Given the description of an element on the screen output the (x, y) to click on. 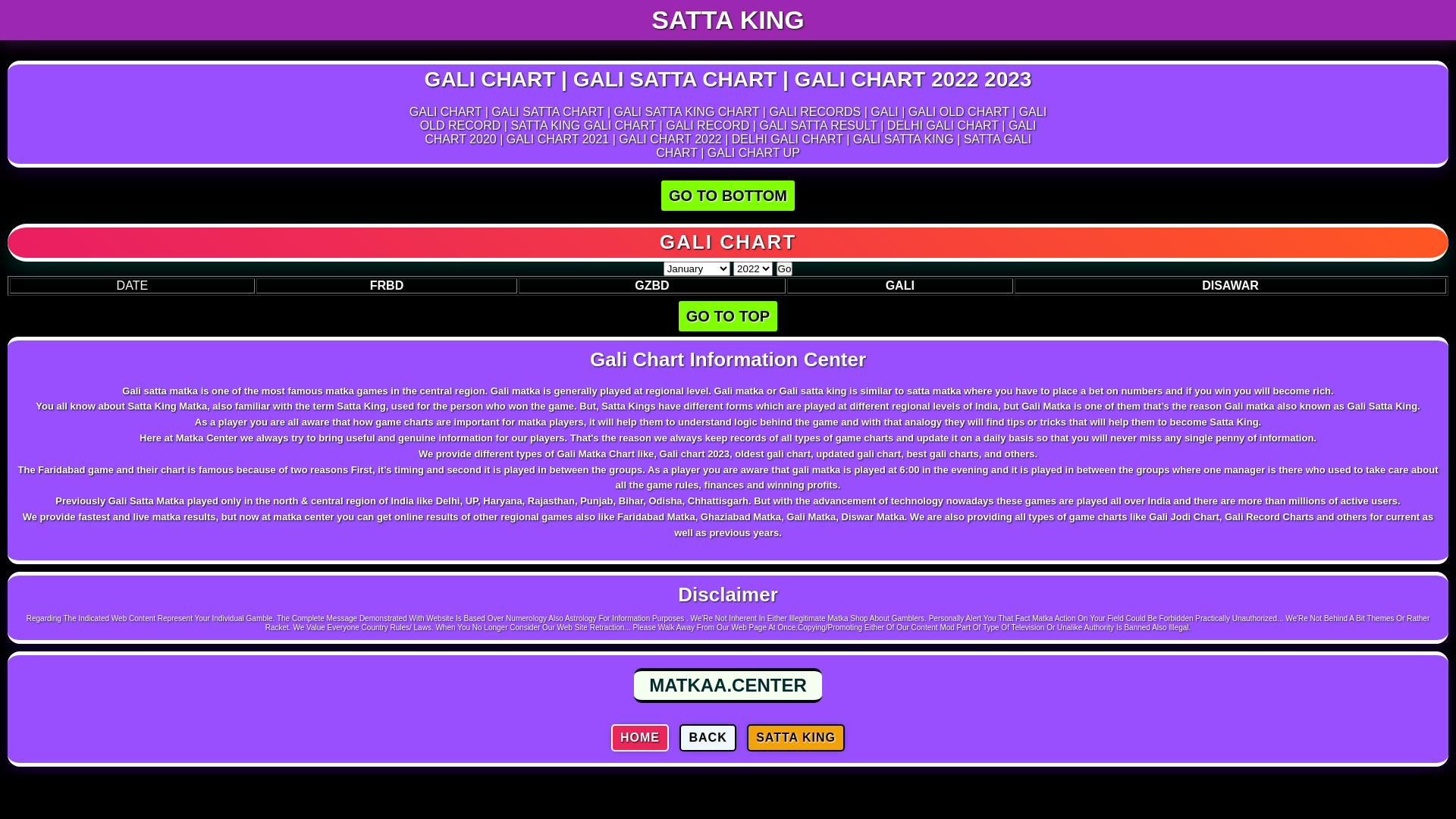
BACK Element type: text (707, 737)
GO TO TOP Element type: text (727, 315)
SATTA KING Element type: text (795, 737)
HOME Element type: text (639, 737)
Go Element type: text (784, 268)
GO TO BOTTOM Element type: text (727, 195)
